Given the description of an element on the screen output the (x, y) to click on. 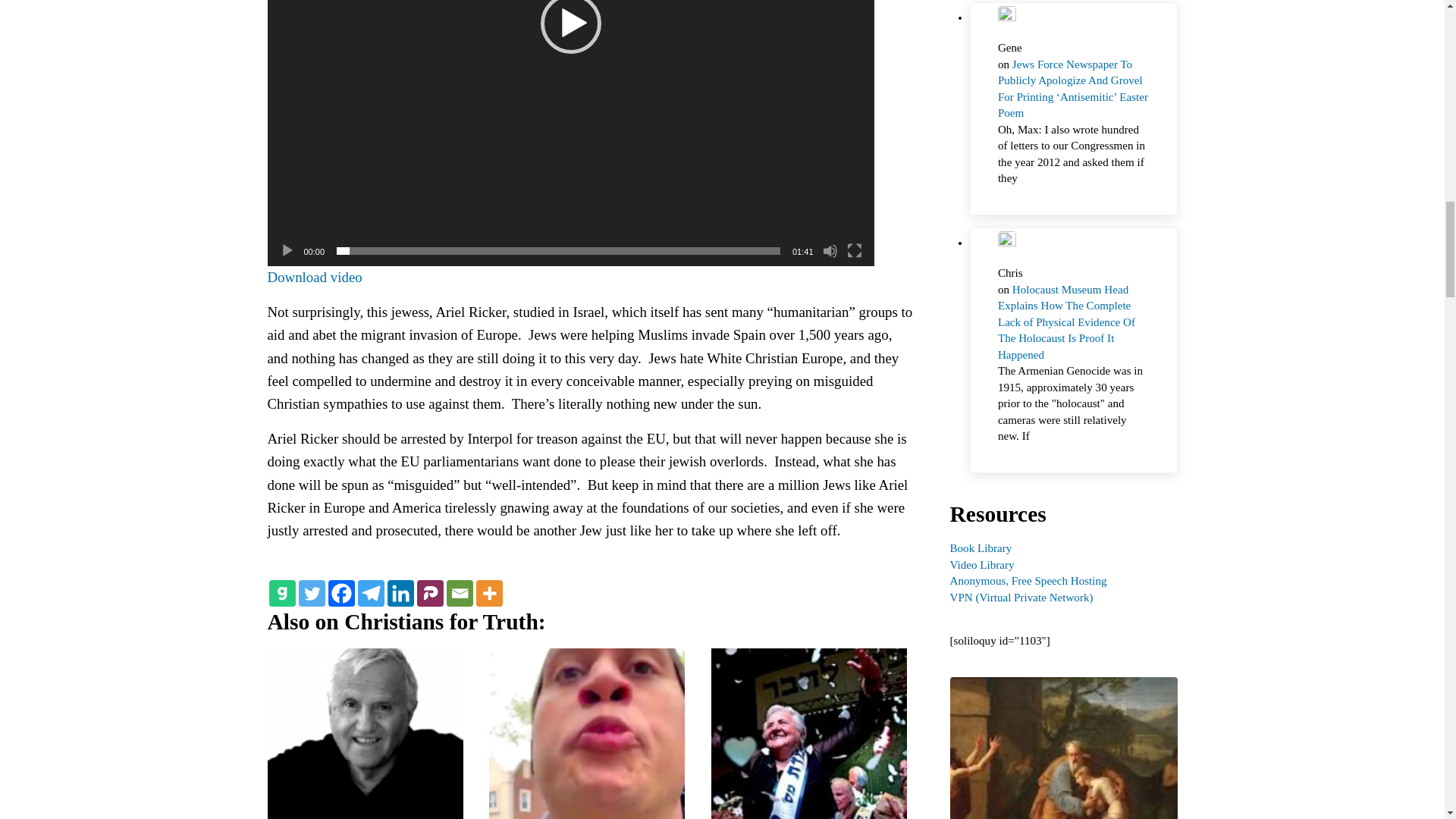
Twitter (311, 592)
Play (286, 250)
Mute (829, 250)
Linkedin (400, 592)
Fullscreen (853, 250)
Telegram (371, 592)
Facebook (340, 592)
Gab (281, 592)
